Given the description of an element on the screen output the (x, y) to click on. 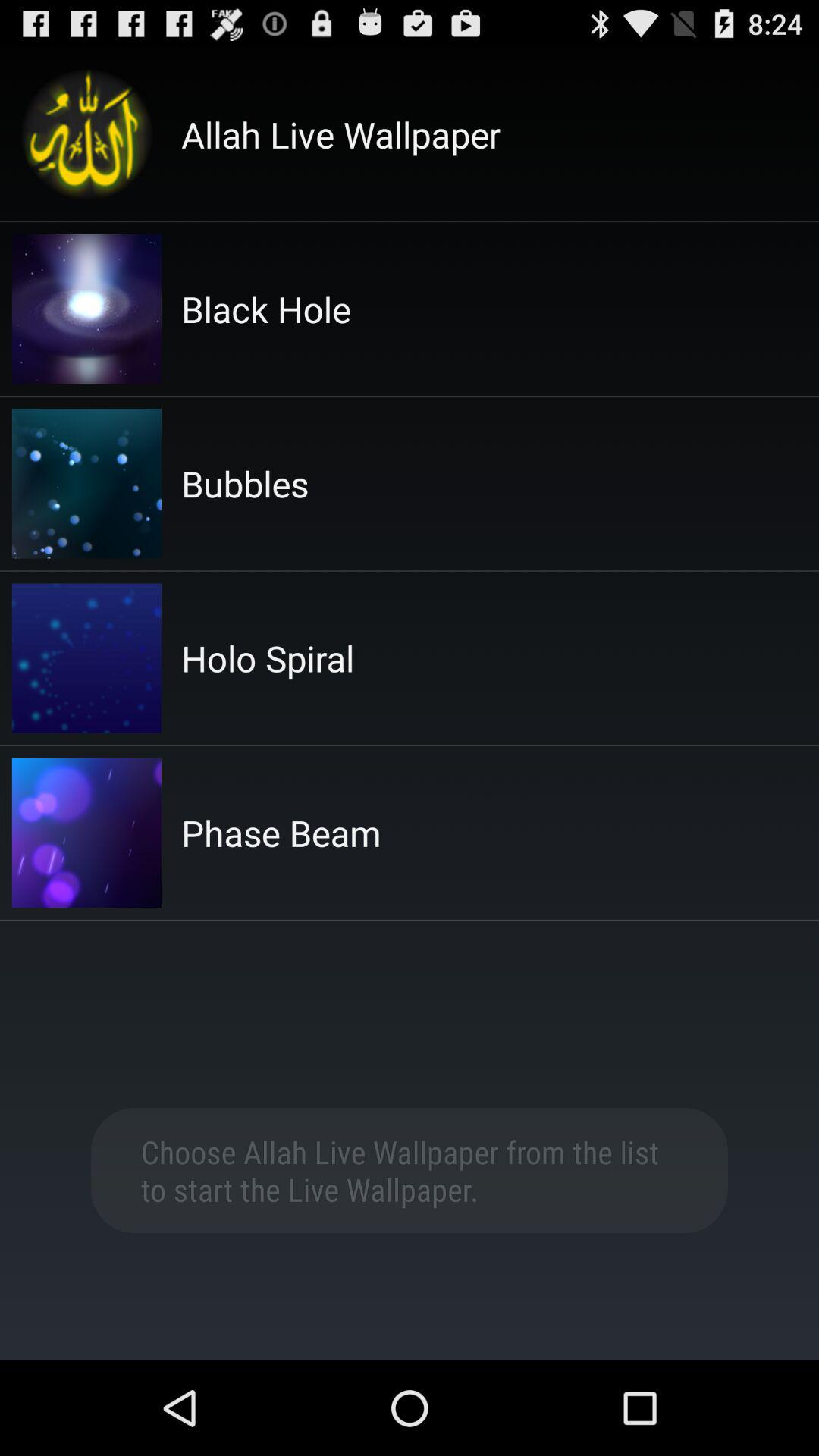
choose the item above the black hole icon (341, 134)
